Given the description of an element on the screen output the (x, y) to click on. 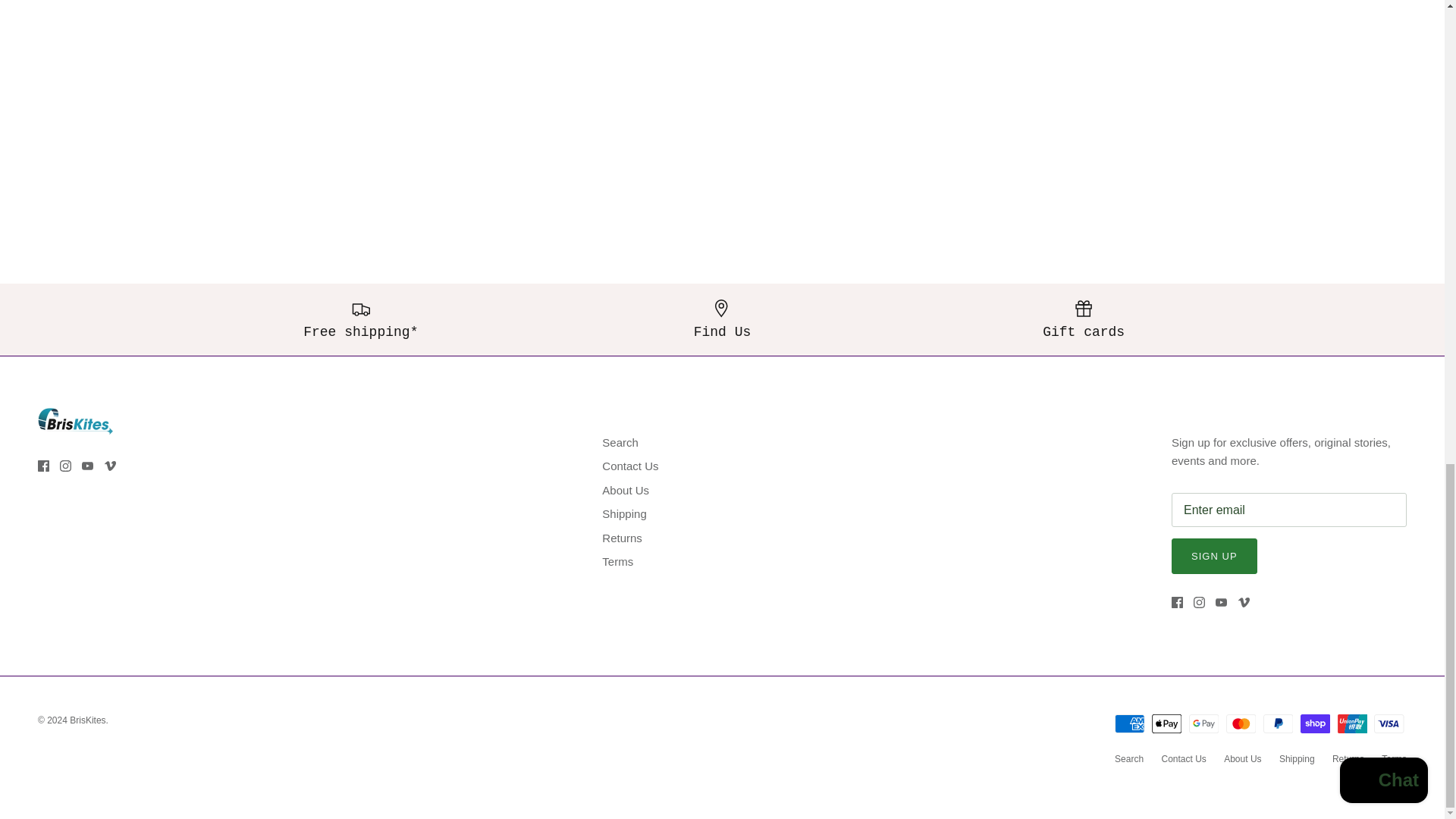
Youtube (1221, 602)
Vimeo (110, 465)
Facebook (1177, 602)
Vimeo (1244, 602)
Instagram (65, 465)
Instagram (1199, 602)
Youtube (87, 465)
Facebook (43, 465)
